Given the description of an element on the screen output the (x, y) to click on. 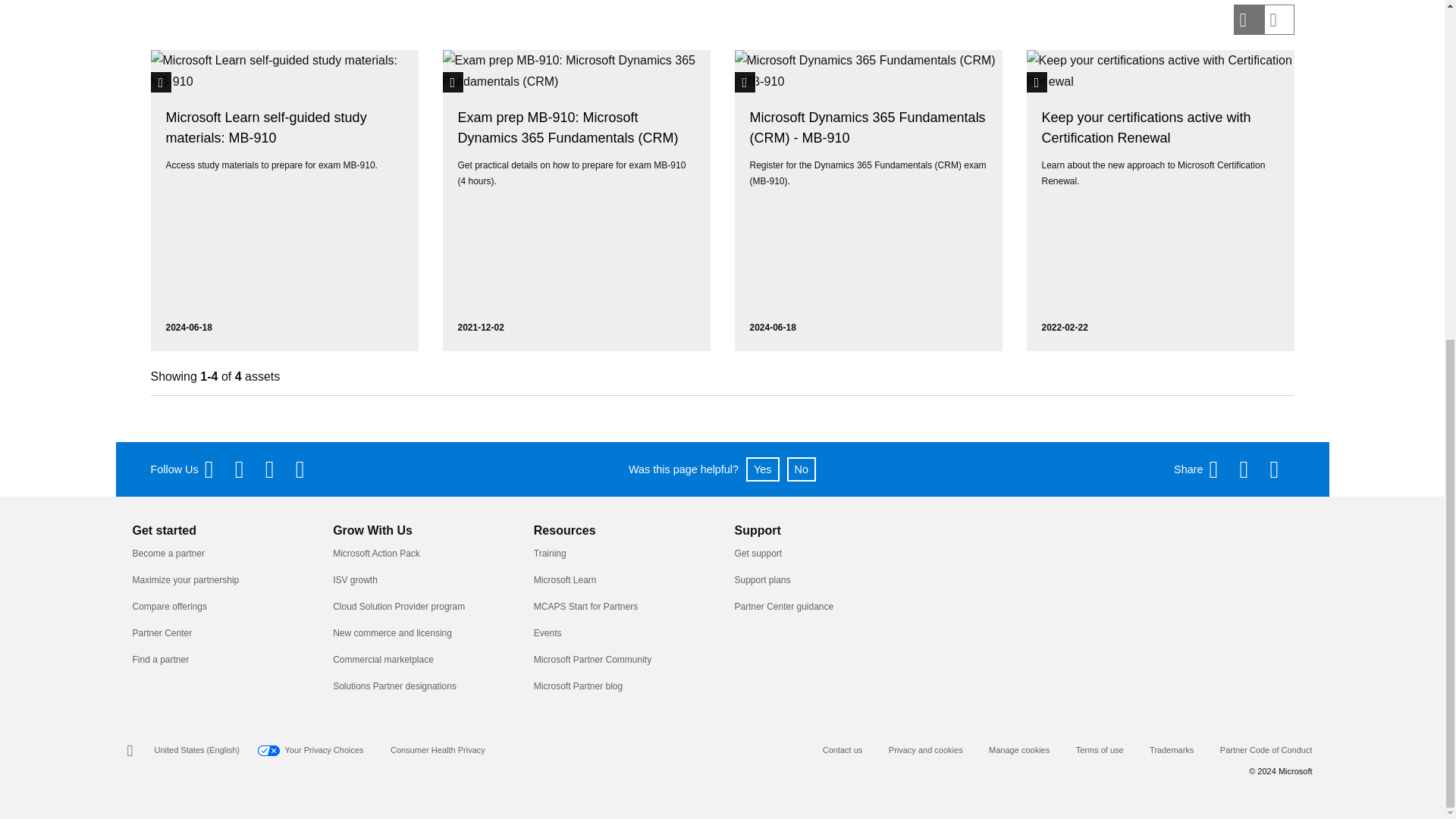
collection (453, 81)
Microsoft Learn self-guided study materials: MB-910 (265, 127)
link (744, 81)
collection (160, 81)
